Given the description of an element on the screen output the (x, y) to click on. 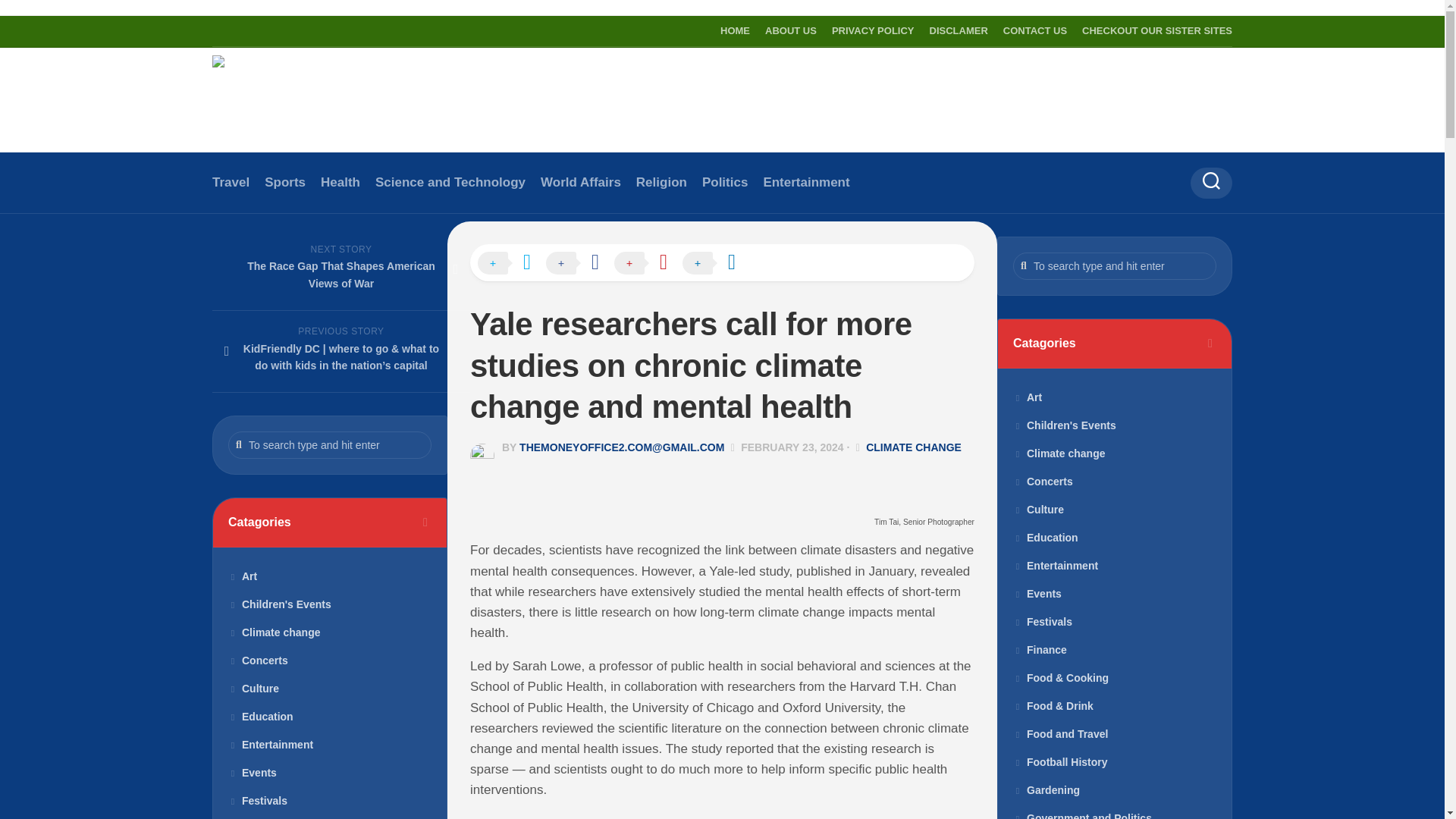
Share on Facebook (580, 263)
World Affairs (580, 182)
Sports (284, 182)
Science and Technology (450, 182)
HOME (734, 30)
Entertainment (805, 182)
DISCLAMER (959, 30)
Share on LinkedIn (716, 263)
Religion (661, 182)
ABOUT US (790, 30)
